Given the description of an element on the screen output the (x, y) to click on. 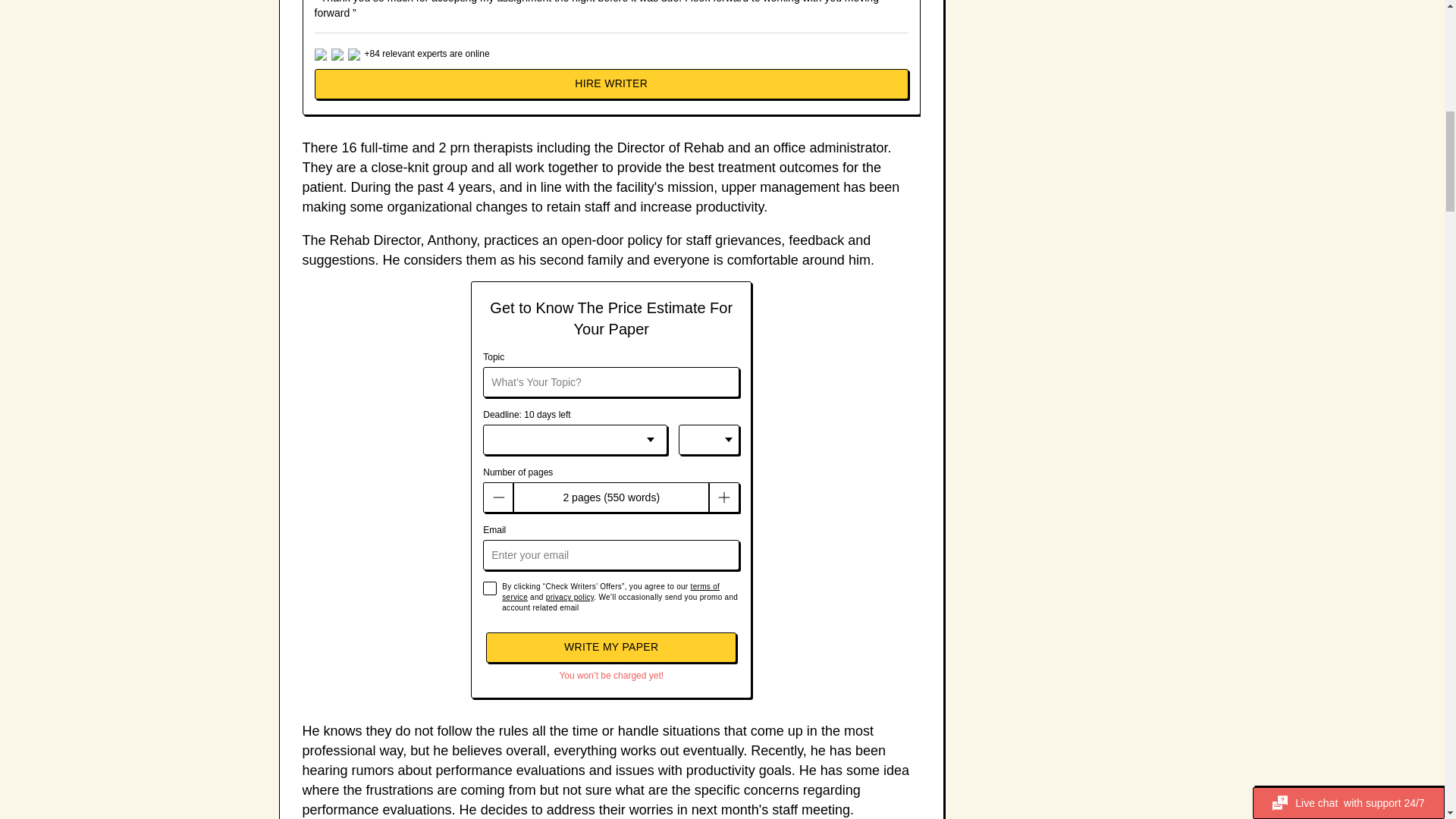
WRITE MY PAPER (611, 647)
terms of service (610, 591)
HIRE WRITER (611, 83)
privacy policy (570, 596)
